Given the description of an element on the screen output the (x, y) to click on. 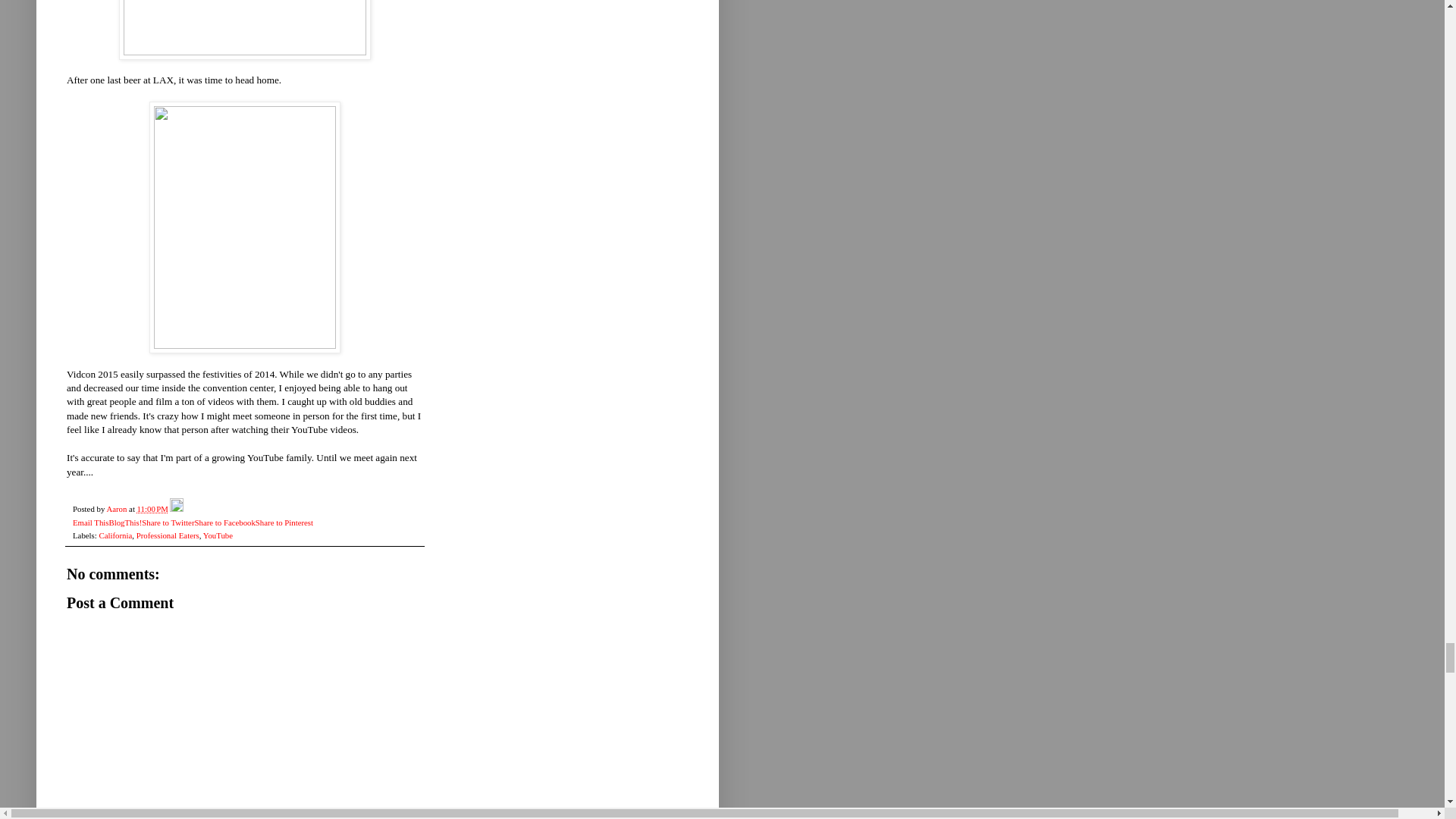
Share to Facebook (223, 522)
BlogThis! (124, 522)
Email This (89, 522)
Edit Post (176, 508)
permanent link (152, 508)
author profile (117, 508)
Share to Twitter (167, 522)
Share to Pinterest (284, 522)
